Given the description of an element on the screen output the (x, y) to click on. 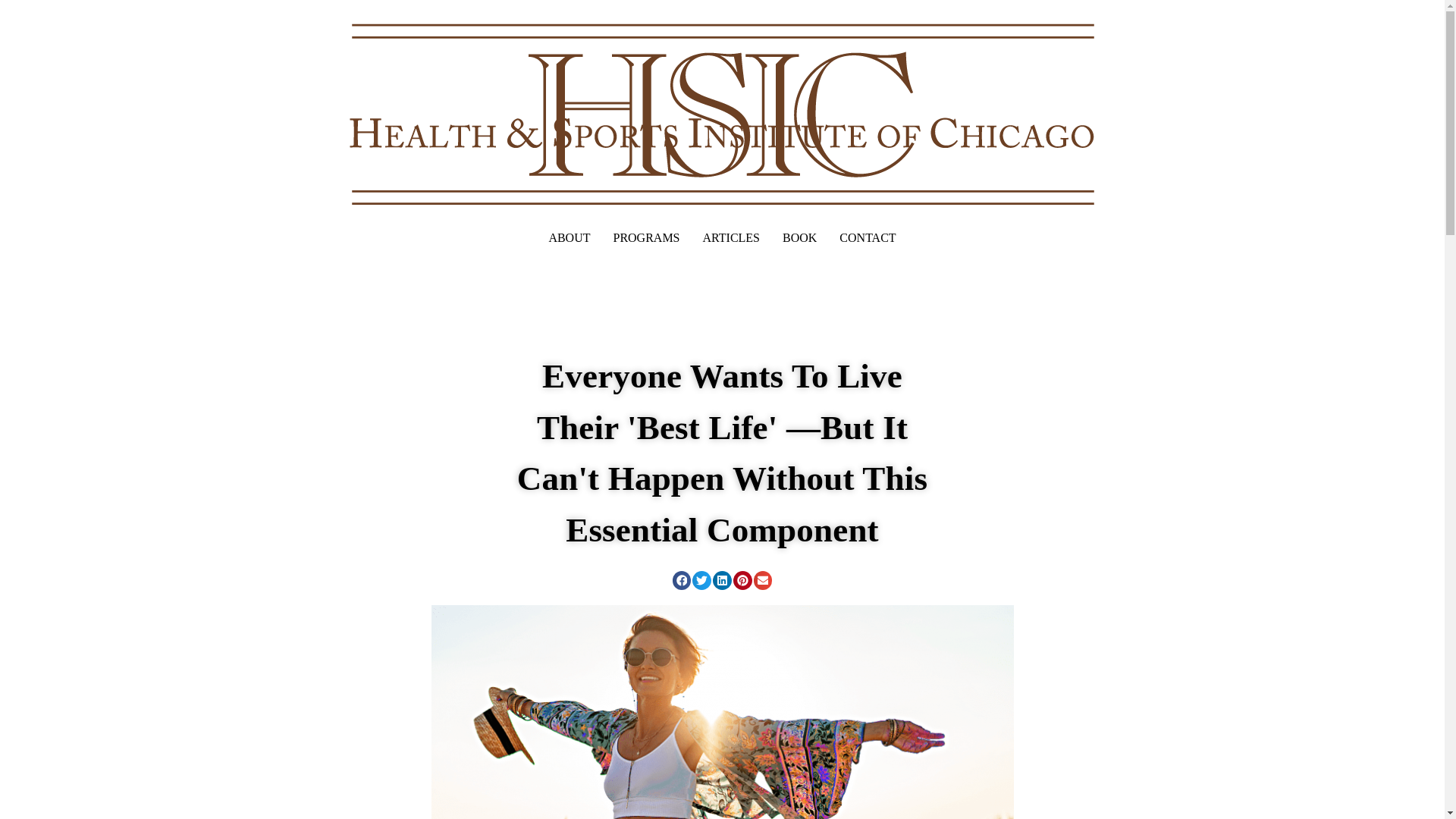
BOOK (799, 237)
CONTACT (867, 237)
ARTICLES (731, 237)
PROGRAMS (645, 237)
ABOUT (569, 237)
